Given the description of an element on the screen output the (x, y) to click on. 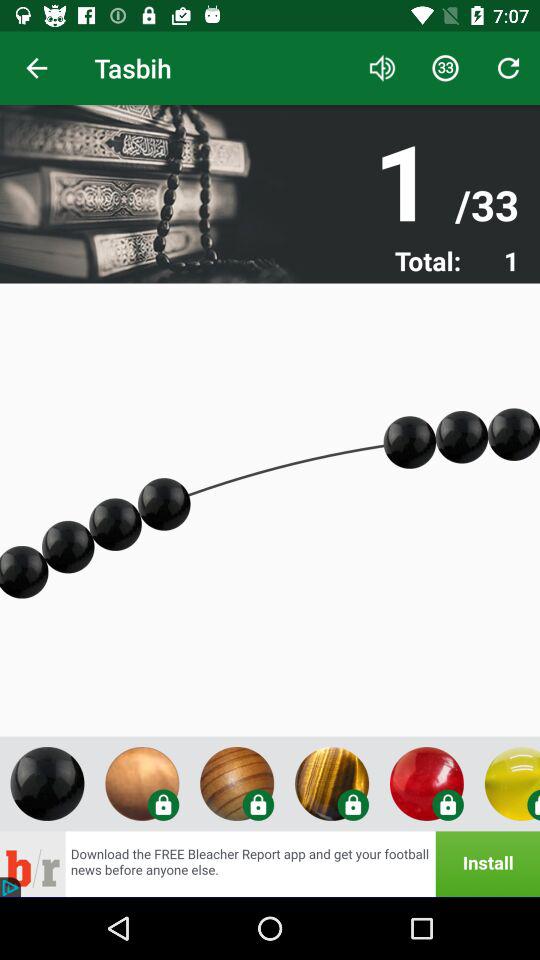
press icon next to tasbih item (381, 67)
